Given the description of an element on the screen output the (x, y) to click on. 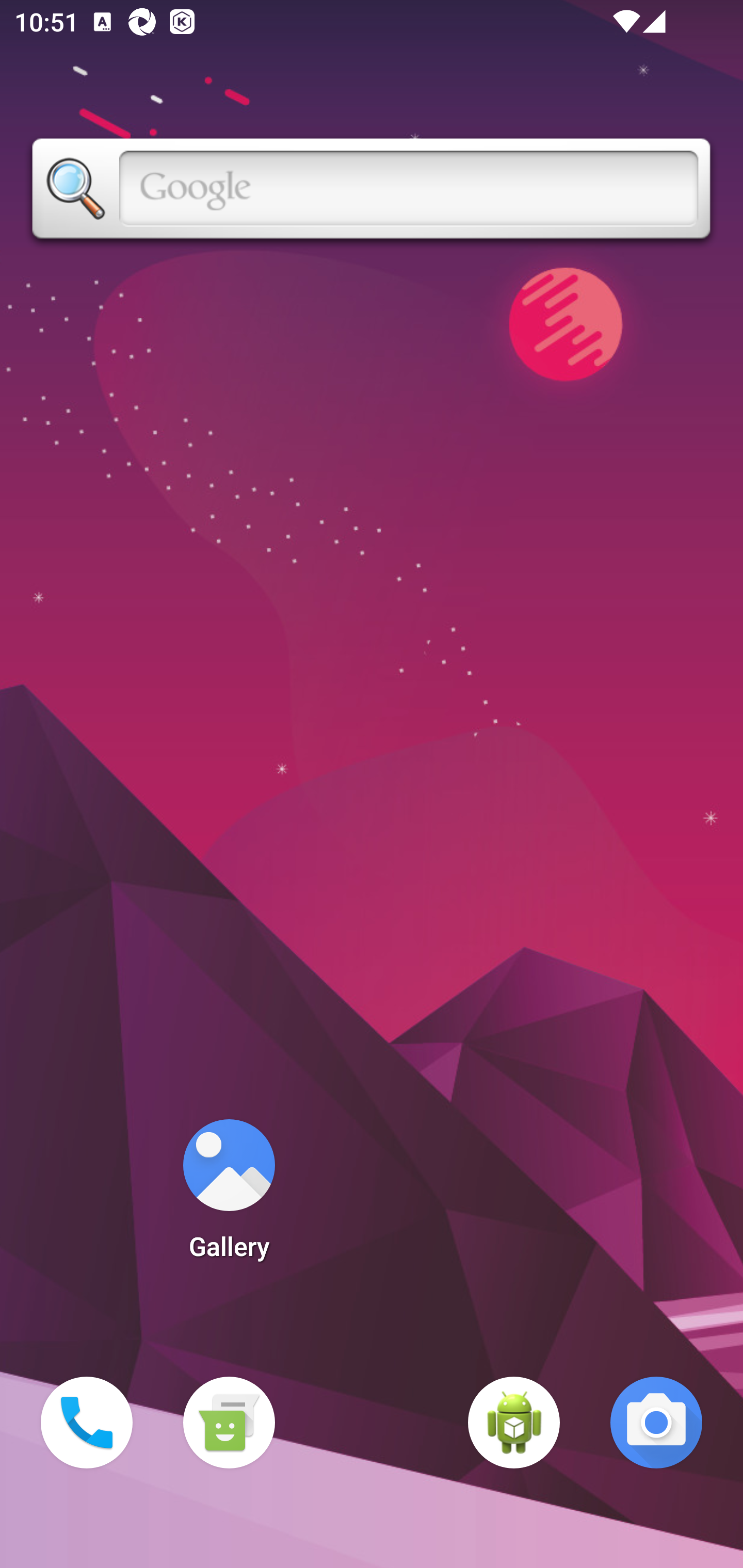
Gallery (228, 1195)
Phone (86, 1422)
Messaging (228, 1422)
WebView Browser Tester (513, 1422)
Camera (656, 1422)
